Given the description of an element on the screen output the (x, y) to click on. 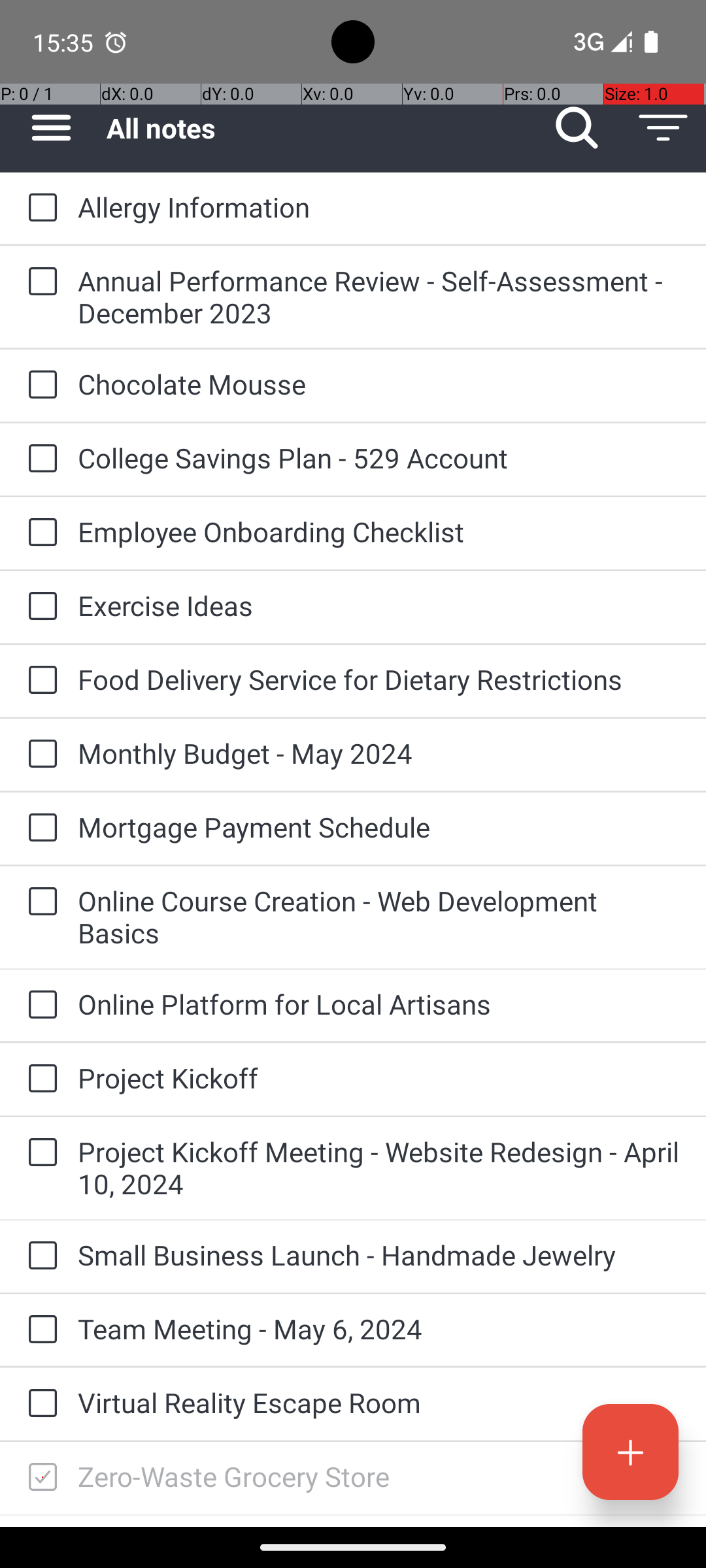
to-do: Chocolate Mousse Element type: android.widget.CheckBox (38, 385)
Chocolate Mousse Element type: android.widget.TextView (378, 383)
to-do: College Savings Plan - 529 Account Element type: android.widget.CheckBox (38, 459)
College Savings Plan - 529 Account Element type: android.widget.TextView (378, 457)
to-do: Employee Onboarding Checklist Element type: android.widget.CheckBox (38, 533)
Employee Onboarding Checklist Element type: android.widget.TextView (378, 531)
to-do: Food Delivery Service for Dietary Restrictions Element type: android.widget.CheckBox (38, 680)
to-do: Monthly Budget - May 2024 Element type: android.widget.CheckBox (38, 754)
Monthly Budget - May 2024 Element type: android.widget.TextView (378, 752)
to-do: Mortgage Payment Schedule Element type: android.widget.CheckBox (38, 828)
Mortgage Payment Schedule Element type: android.widget.TextView (378, 826)
to-do: Online Platform for Local Artisans Element type: android.widget.CheckBox (38, 1005)
Online Platform for Local Artisans Element type: android.widget.TextView (378, 1003)
to-do: Project Kickoff Element type: android.widget.CheckBox (38, 1079)
Project Kickoff Element type: android.widget.TextView (378, 1077)
to-do: Project Kickoff Meeting - Website Redesign - April 10, 2024 Element type: android.widget.CheckBox (38, 1153)
Project Kickoff Meeting - Website Redesign - April 10, 2024 Element type: android.widget.TextView (378, 1167)
to-do: Small Business Launch - Handmade Jewelry Element type: android.widget.CheckBox (38, 1256)
Small Business Launch - Handmade Jewelry Element type: android.widget.TextView (378, 1254)
to-do: Virtual Reality Escape Room Element type: android.widget.CheckBox (38, 1403)
Virtual Reality Escape Room Element type: android.widget.TextView (378, 1402)
to-do: Zero-Waste Grocery Store Element type: android.widget.CheckBox (38, 1477)
Zero-Waste Grocery Store Element type: android.widget.TextView (378, 1475)
